Given the description of an element on the screen output the (x, y) to click on. 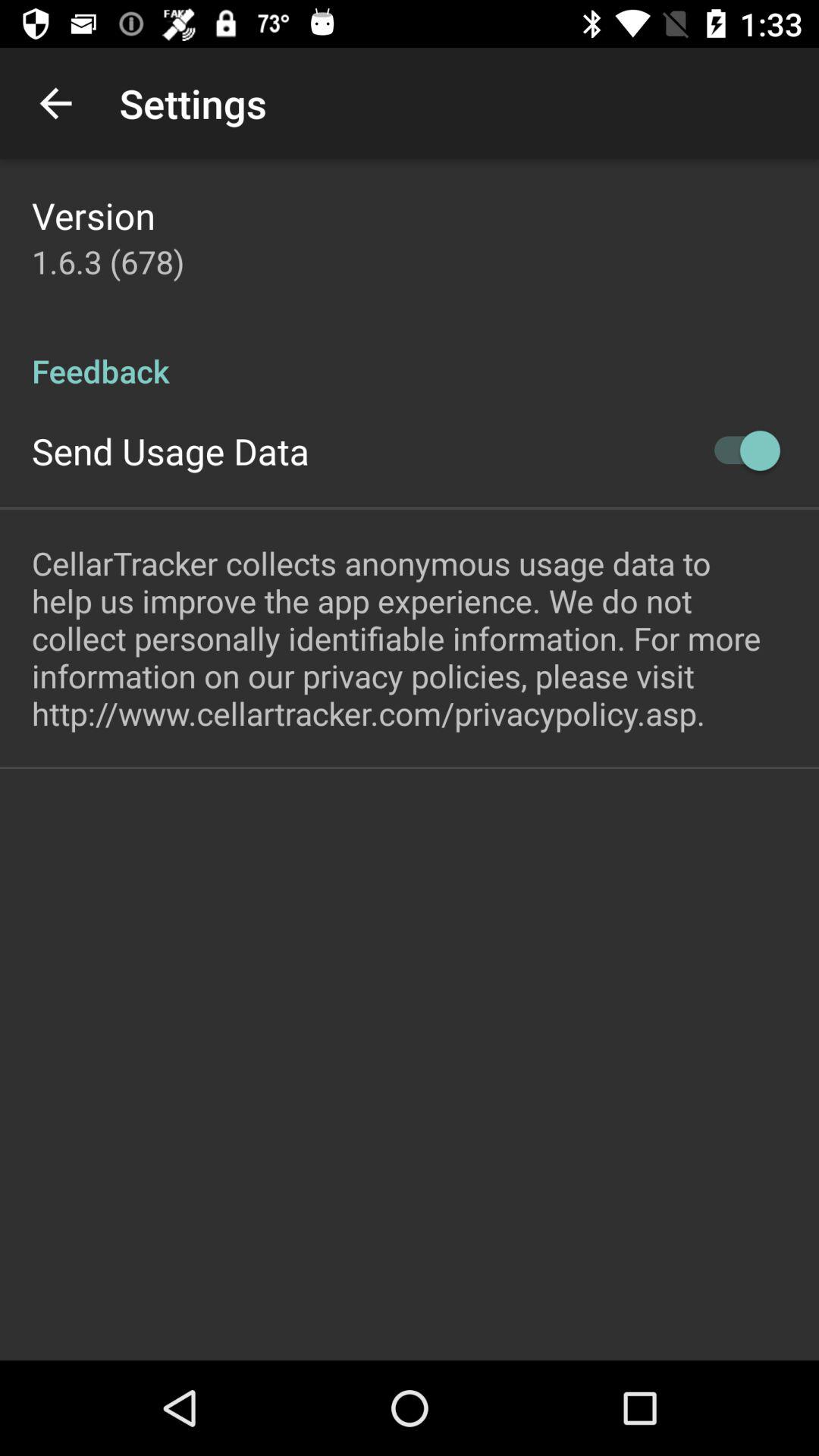
tap the icon above cellartracker collects anonymous item (739, 450)
